Given the description of an element on the screen output the (x, y) to click on. 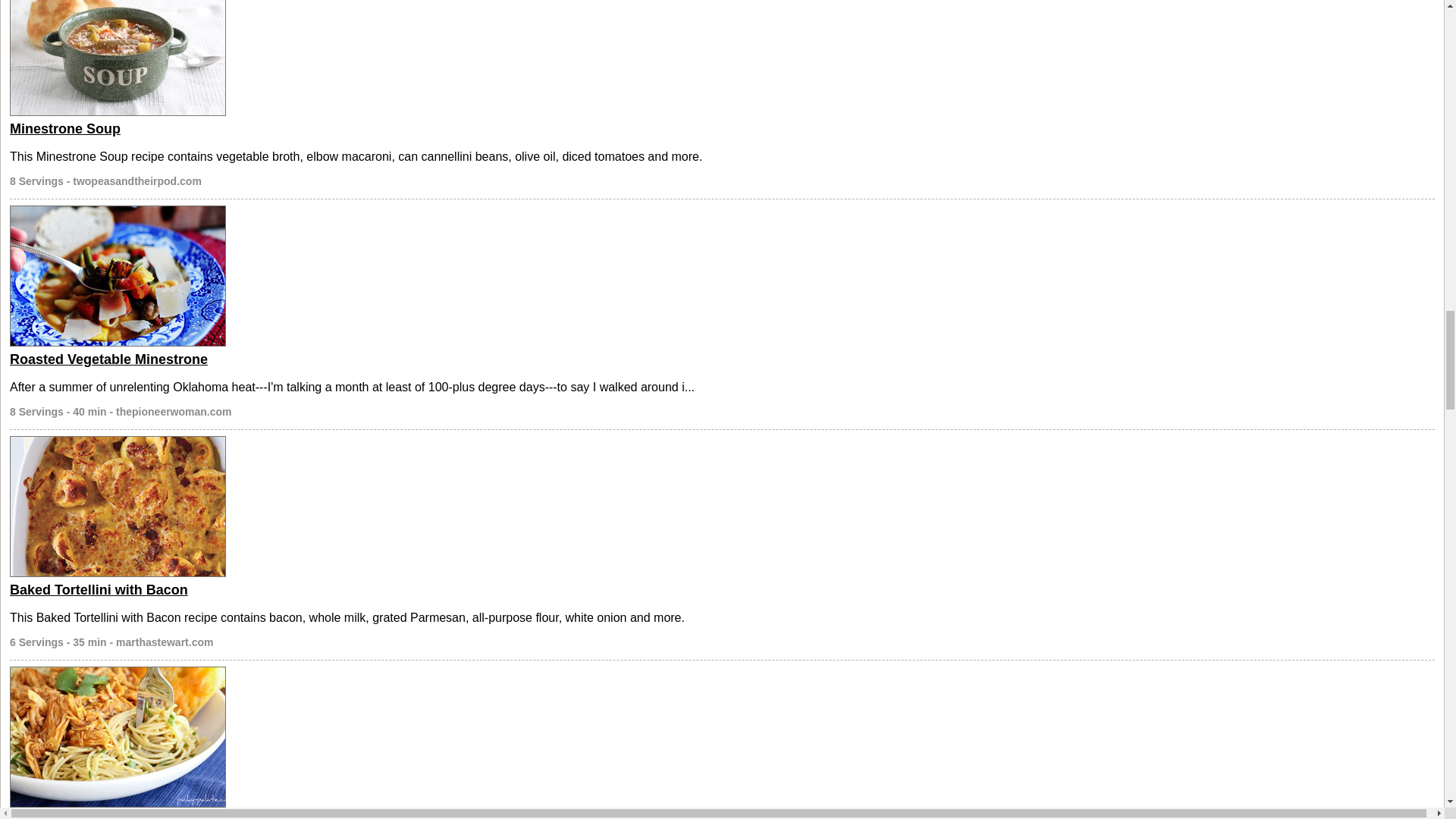
BBQ Shredded Chicken Spaghetti (120, 816)
Roasted Vegetable Minestrone (109, 359)
Baked Tortellini with Bacon (98, 589)
Minestrone Soup (65, 128)
